Given the description of an element on the screen output the (x, y) to click on. 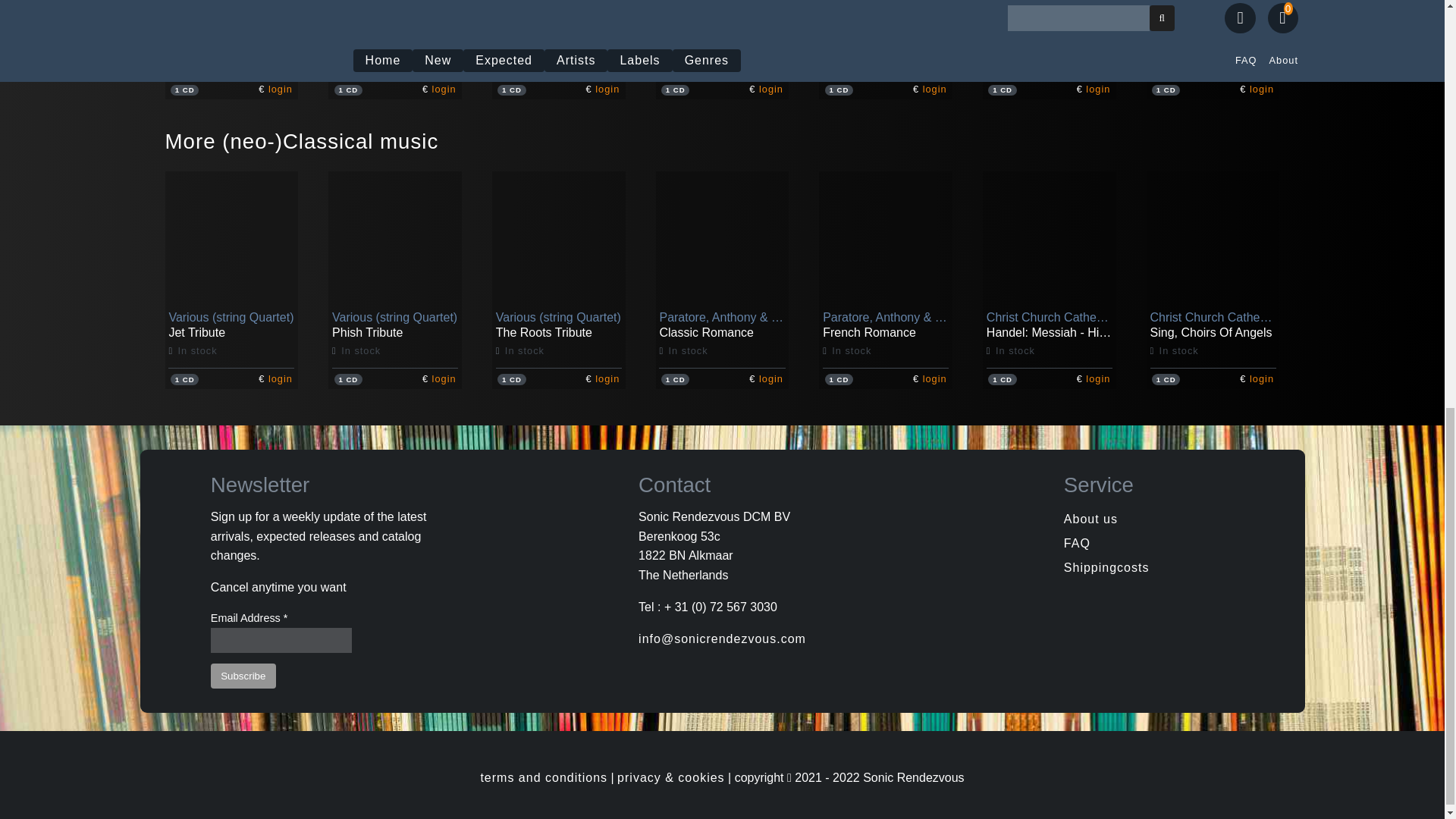
Brancaccio, Vincenzo Sandro - Reverie Italien, Guitar Music (885, 60)
1 CD (184, 89)
Christ Church Catherdral Choir - Sing, Choirs Of Angels (1213, 350)
login (279, 89)
Subscribe (243, 675)
